Given the description of an element on the screen output the (x, y) to click on. 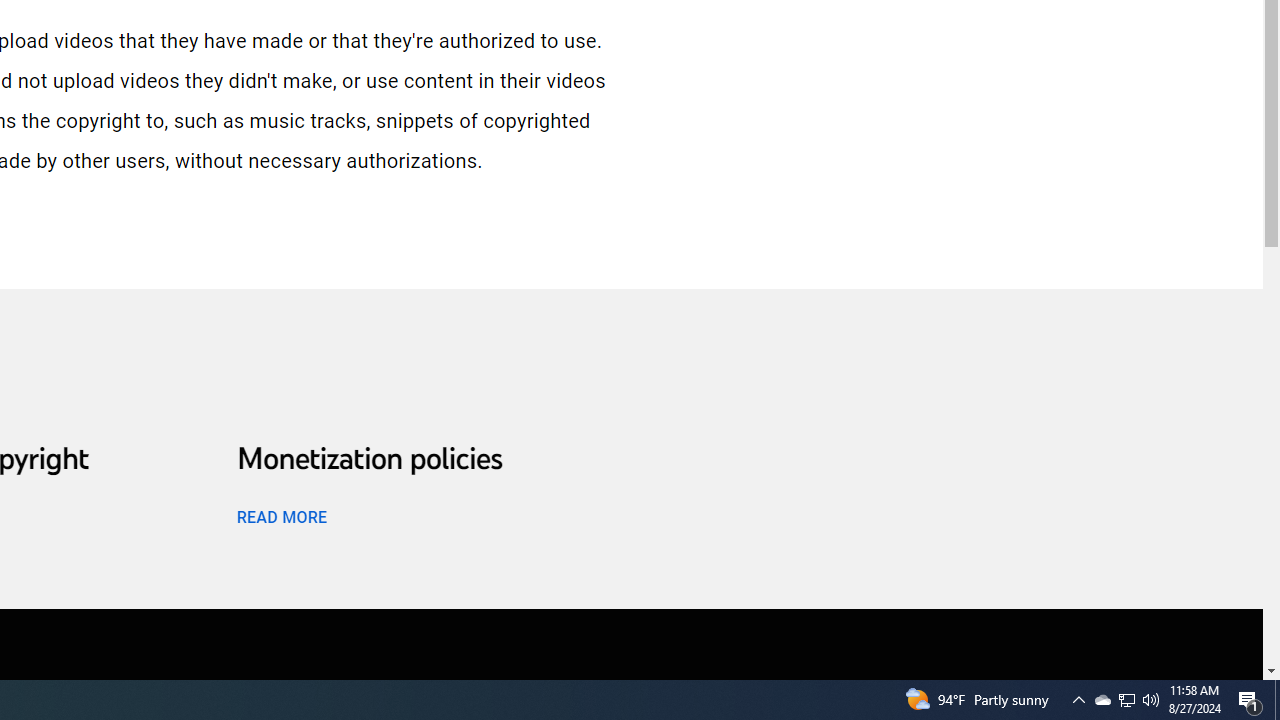
READ MORE (281, 516)
